Given the description of an element on the screen output the (x, y) to click on. 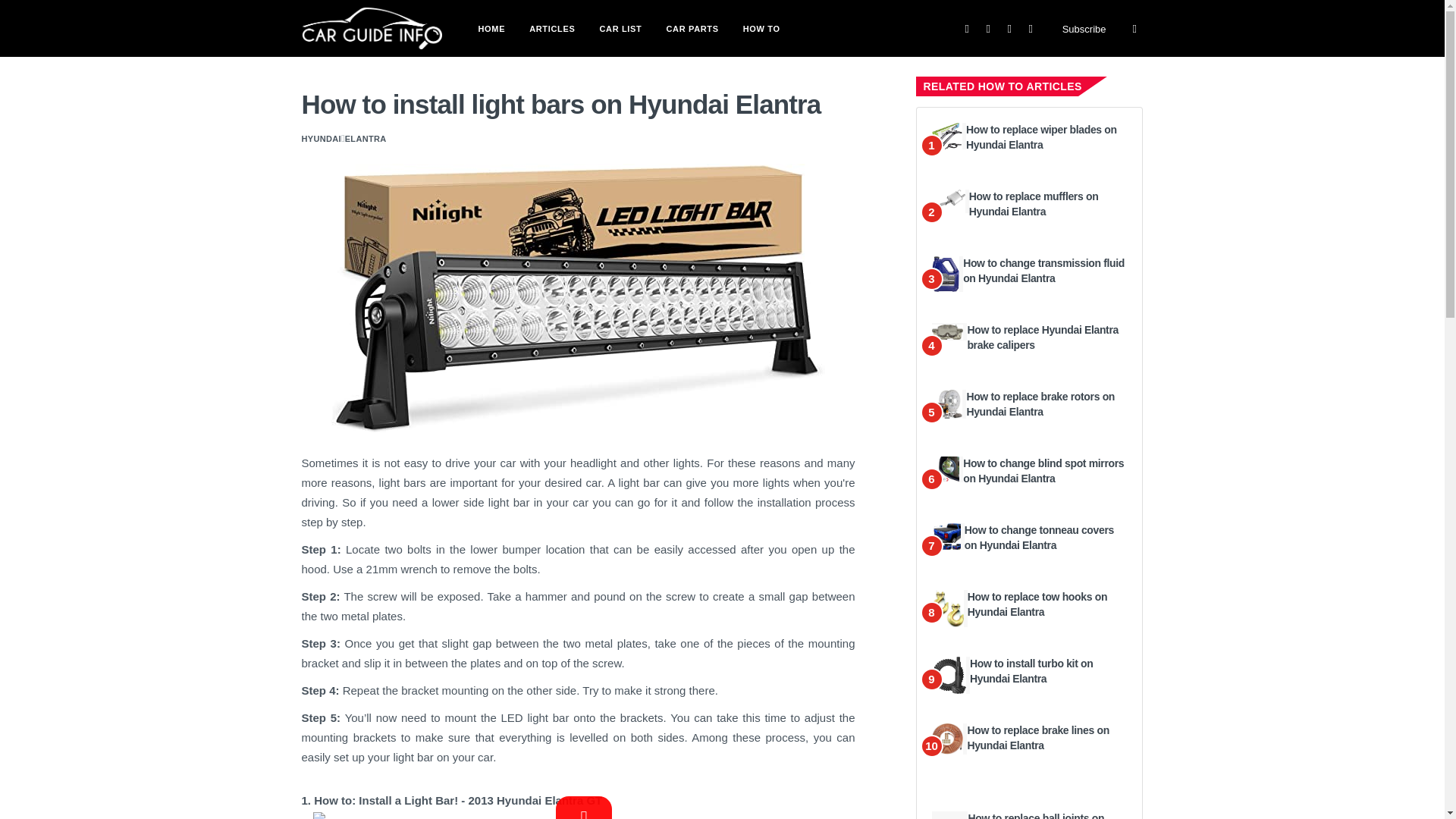
How to replace Hyundai Elantra brake calipers (1042, 337)
ELANTRA (366, 137)
HOW TO (761, 27)
Subscribe (1084, 28)
How to replace wiper blades on Hyundai Elantra (1041, 136)
How to replace mufflers on Hyundai Elantra (1034, 203)
CAR LIST (619, 27)
How to change transmission fluid on Hyundai Elantra (1043, 270)
HOME (490, 27)
ARTICLES (551, 27)
HYUNDAI (320, 137)
CAR PARTS (691, 27)
